Given the description of an element on the screen output the (x, y) to click on. 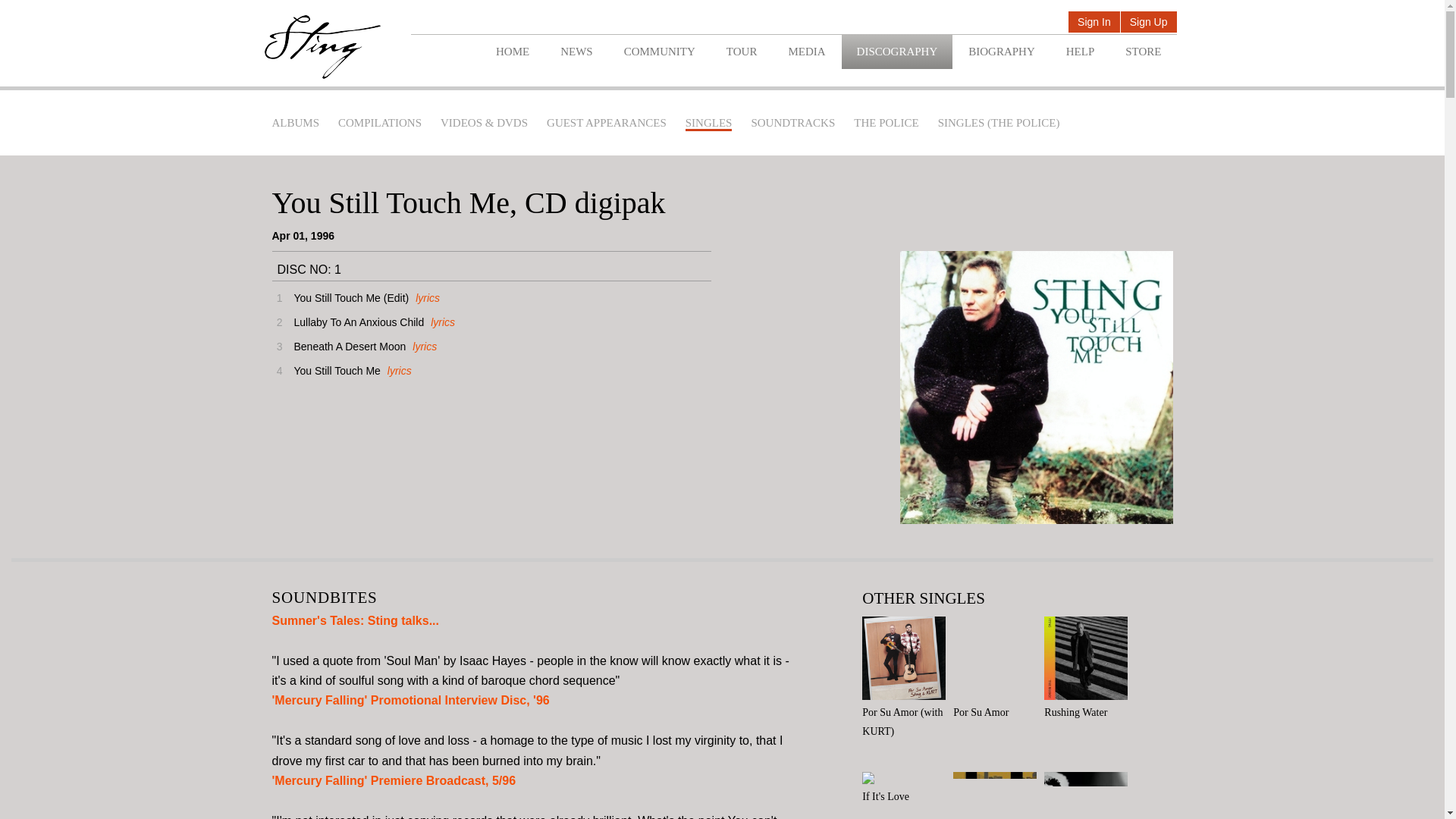
COMMUNITY (659, 51)
lyrics (425, 297)
Sting (321, 46)
NEWS (576, 51)
ALBUMS (294, 122)
HELP (1080, 51)
SINGLES (708, 124)
GUEST APPEARANCES (606, 122)
THE POLICE (885, 122)
BIOGRAPHY (1001, 51)
STORE (1142, 51)
HOME (512, 51)
DISCOGRAPHY (897, 51)
TOUR (742, 51)
lyrics (398, 370)
